Given the description of an element on the screen output the (x, y) to click on. 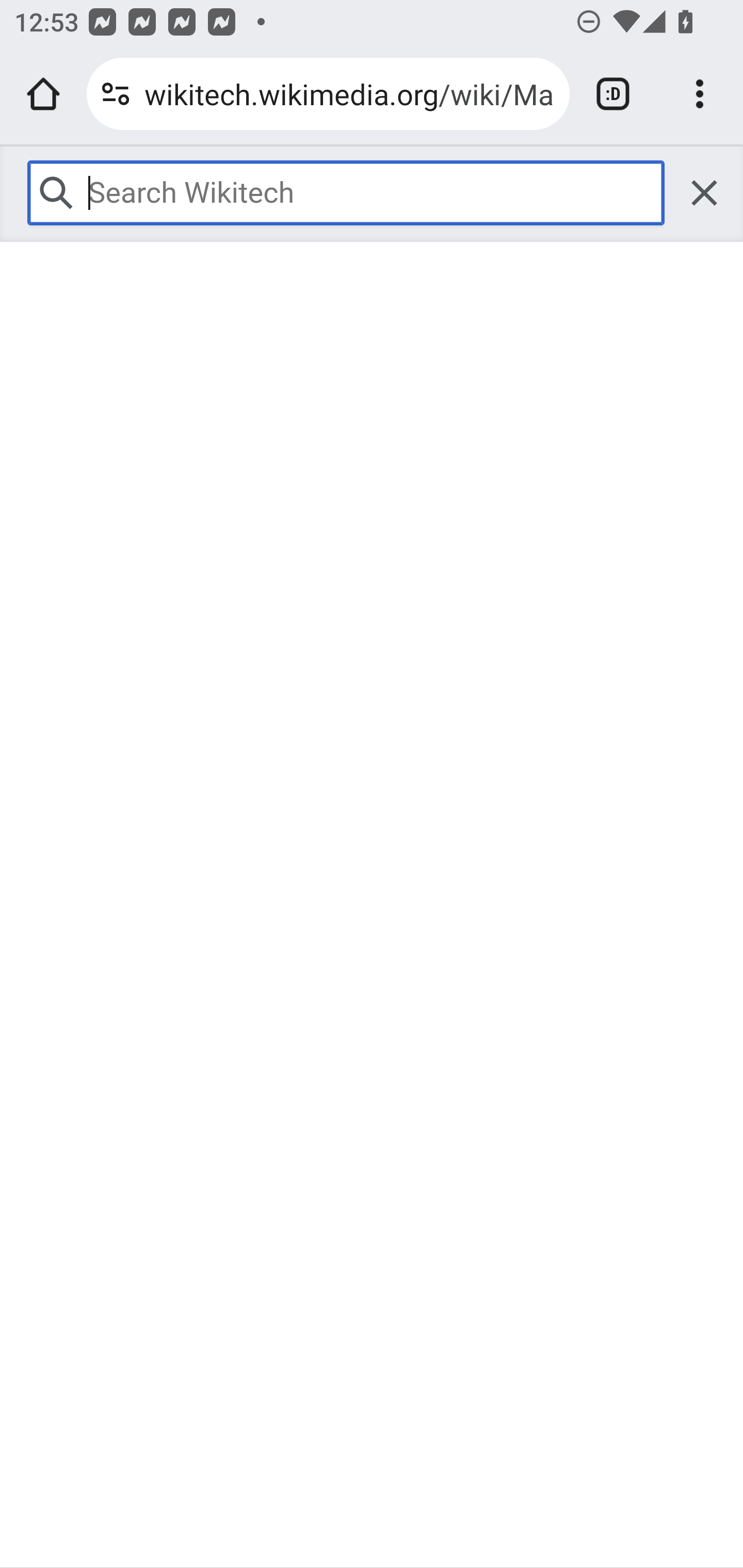
Open the home page (43, 93)
Connection is secure (115, 93)
Switch or close tabs (612, 93)
Customize and control Google Chrome (699, 93)
wikitech.wikimedia.org/wiki/Main_Page#/search (349, 92)
Close (703, 191)
